Given the description of an element on the screen output the (x, y) to click on. 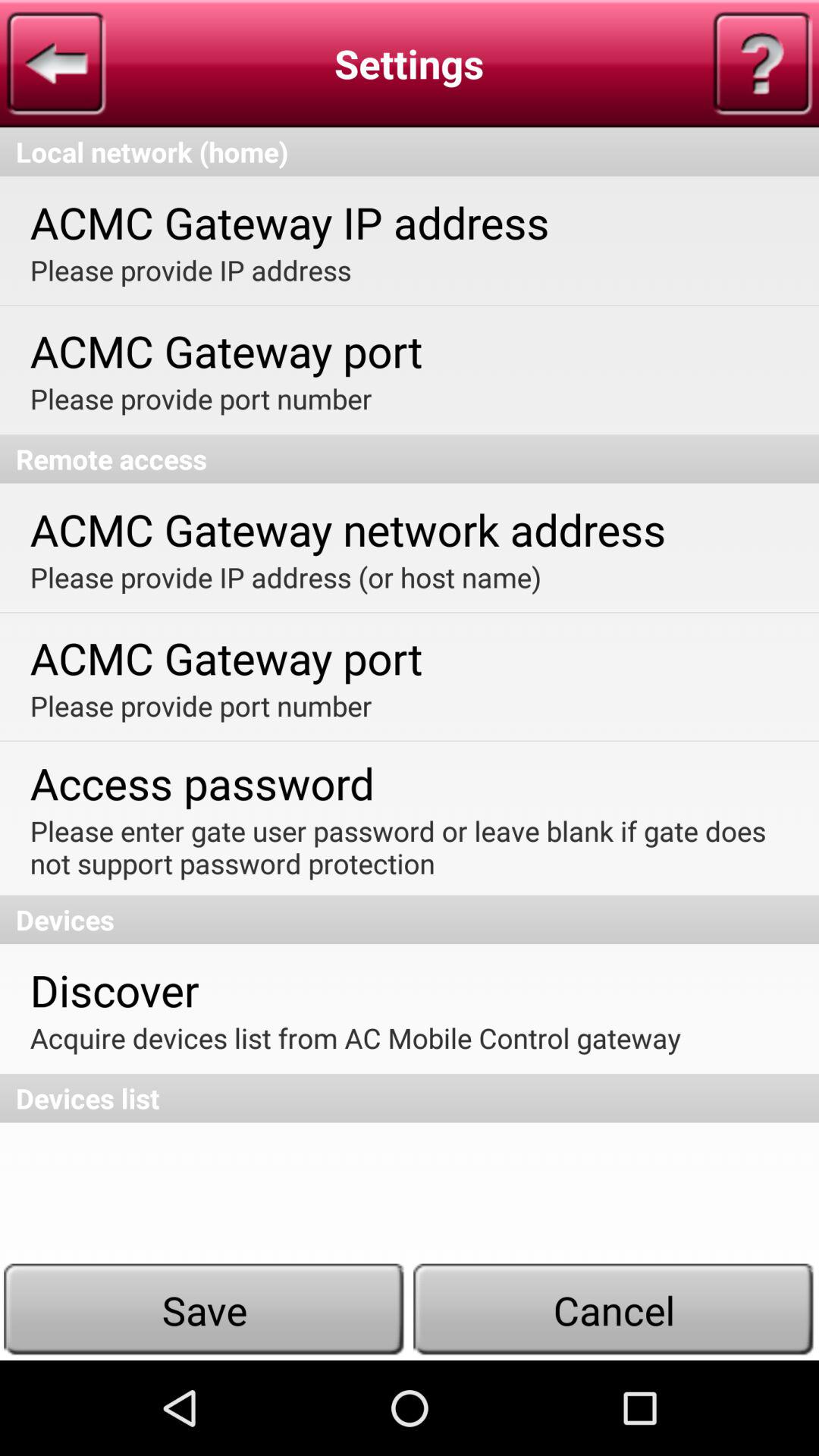
press the remote access item (409, 458)
